Given the description of an element on the screen output the (x, y) to click on. 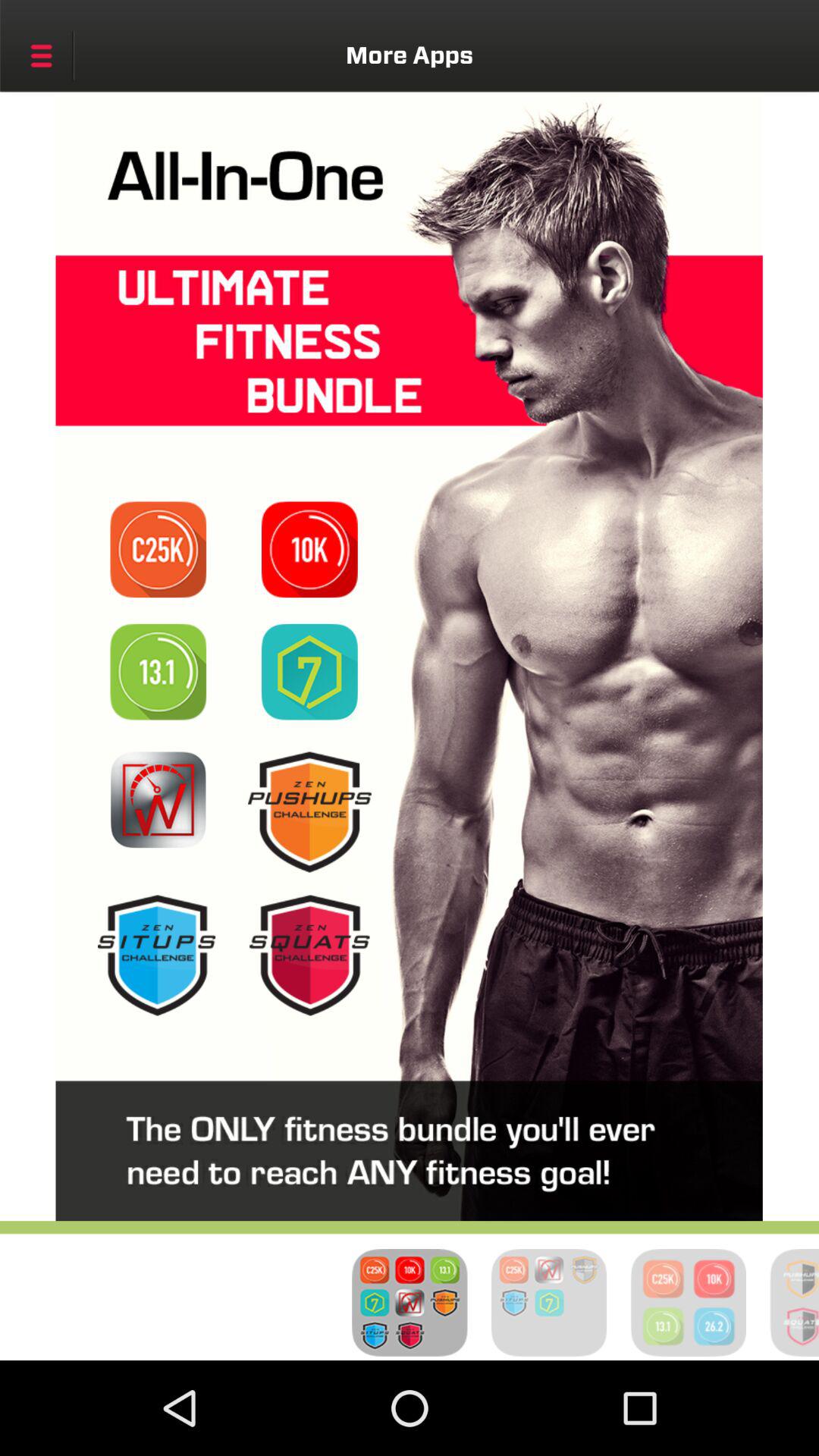
choose item below more apps (158, 549)
